Given the description of an element on the screen output the (x, y) to click on. 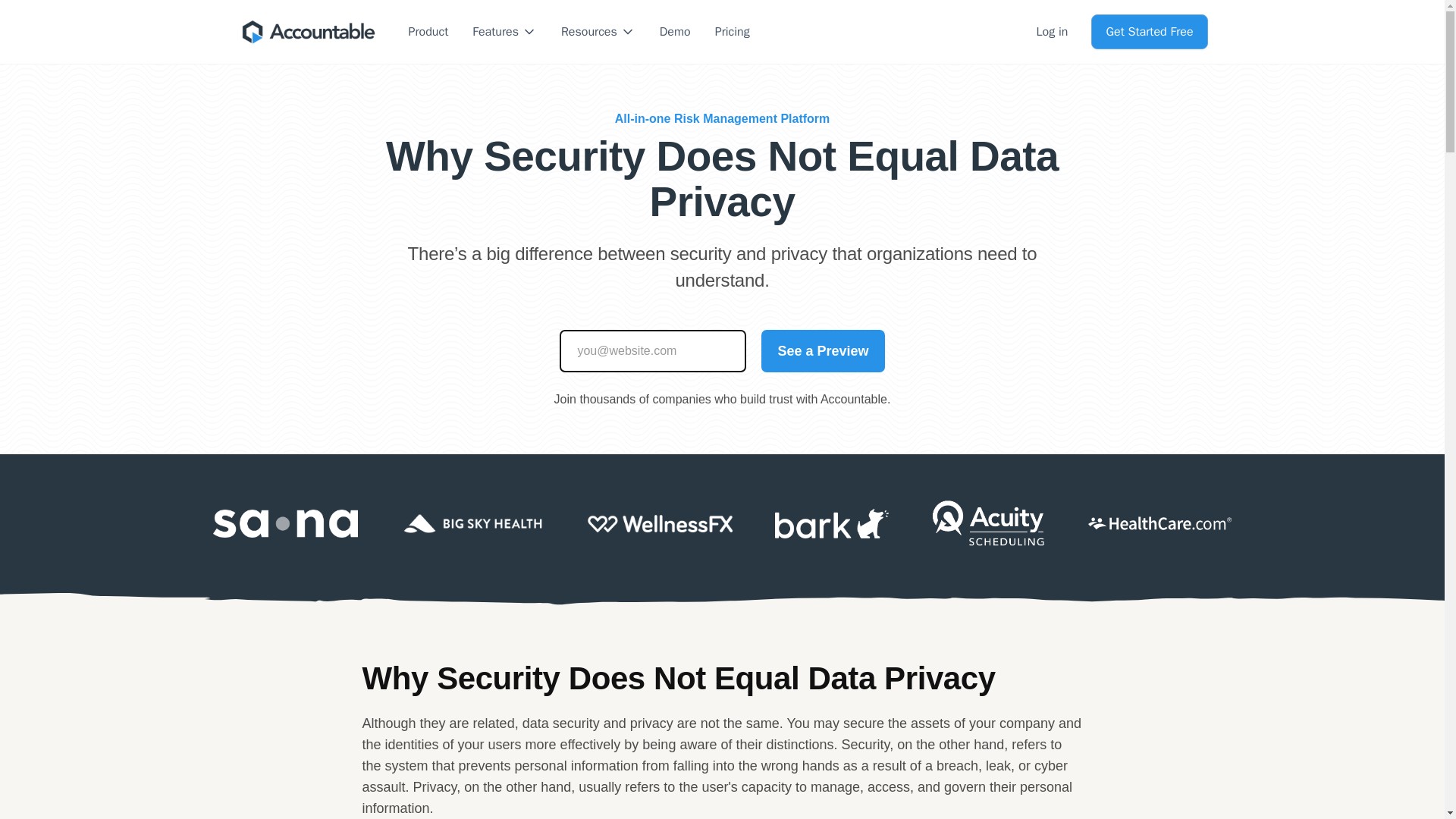
Log in (1052, 31)
See a Preview (822, 351)
Product (428, 31)
Pricing (732, 31)
See a Preview (822, 351)
Get Started Free (1148, 31)
